Given the description of an element on the screen output the (x, y) to click on. 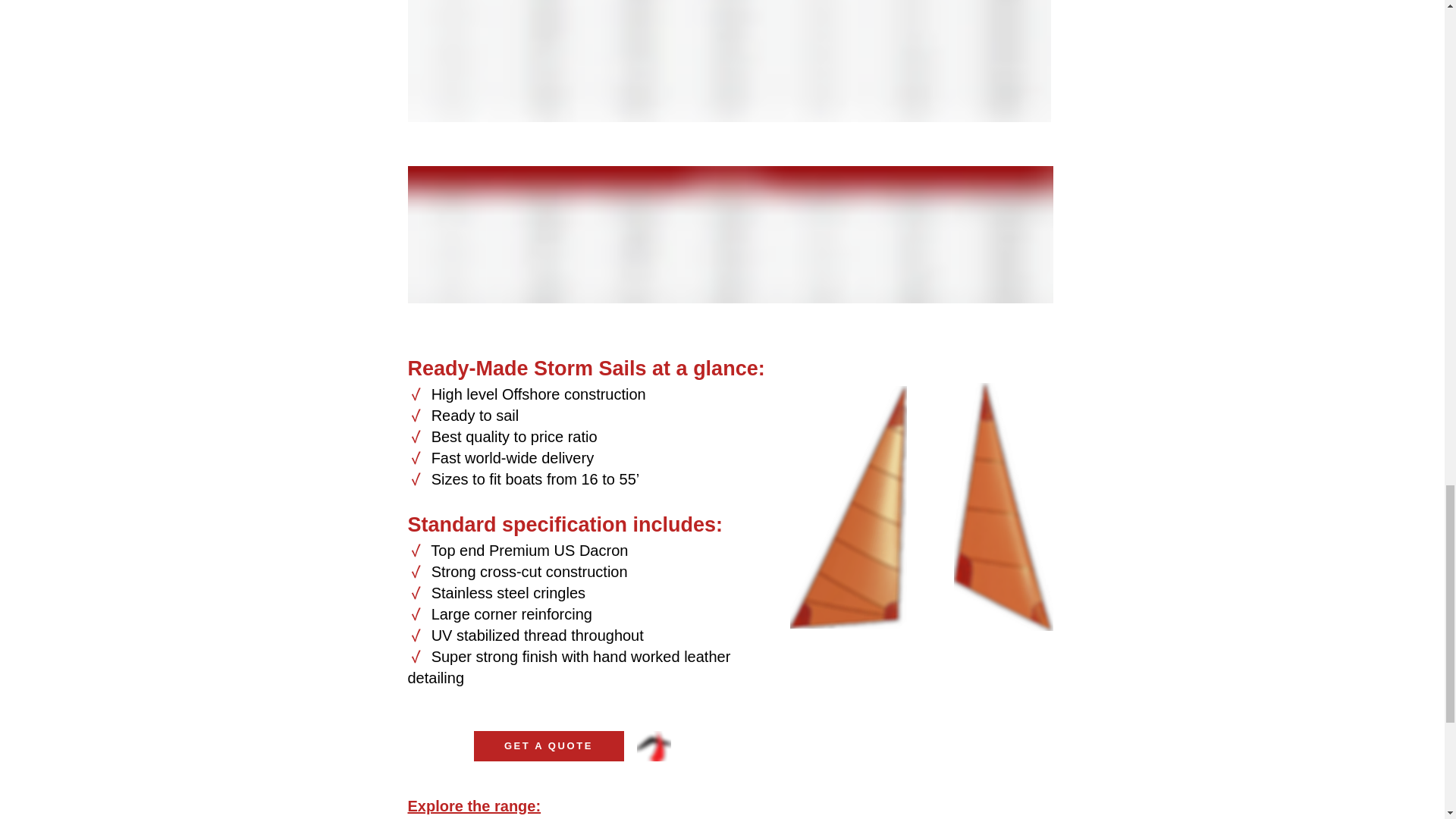
GET A QUOTE (548, 746)
